Given the description of an element on the screen output the (x, y) to click on. 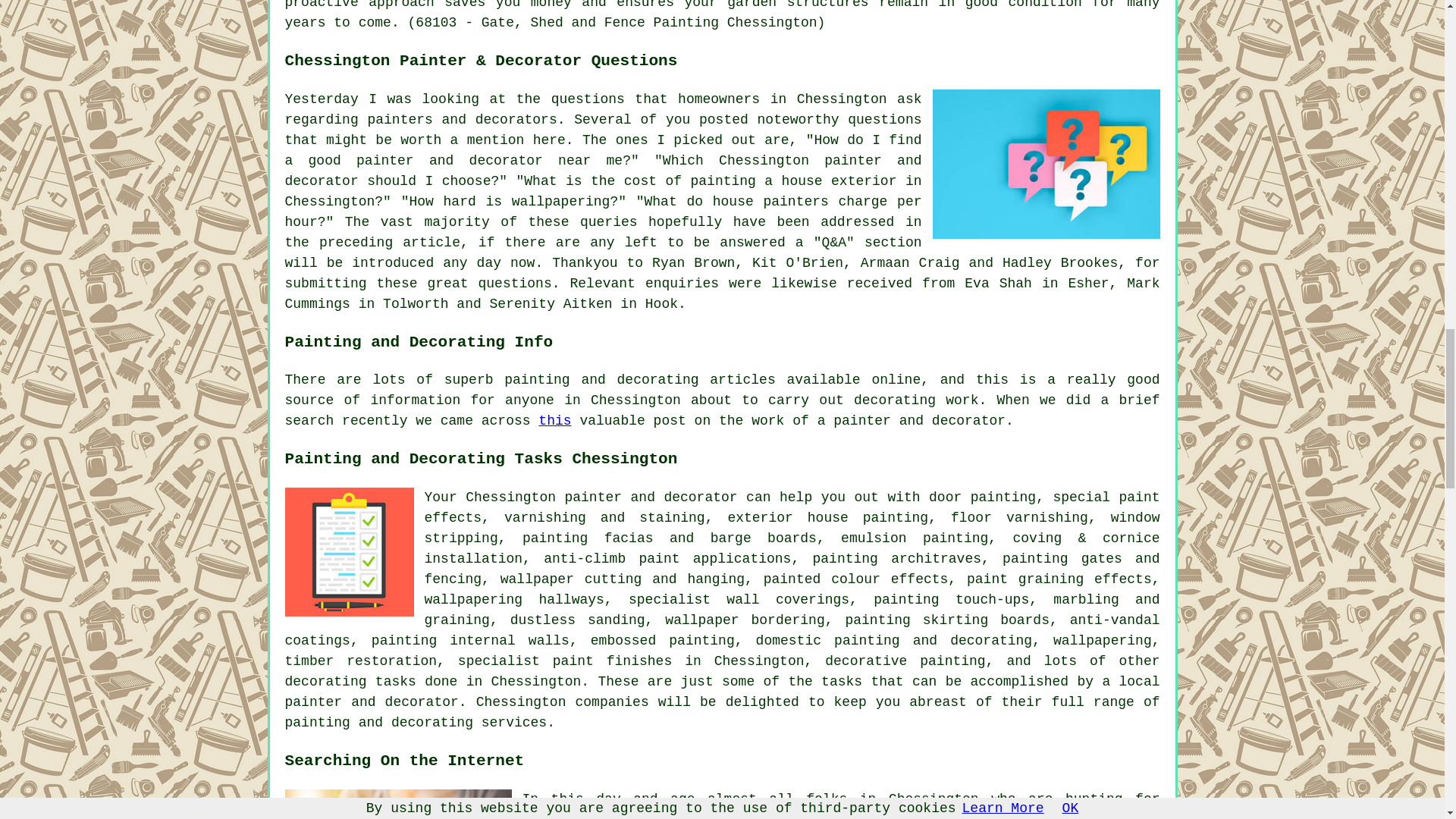
painting internal walls (470, 640)
decorating (325, 681)
a local painter and decorator (722, 692)
wallpapering (1101, 640)
domestic painting and decorating (893, 640)
Painting and Decorating Tasks Chessington (349, 551)
Search Engine Results Painters and Decorators Chessington (398, 804)
painter and decorator (650, 497)
Chessington Painter and Decorator Questions (1046, 164)
